Given the description of an element on the screen output the (x, y) to click on. 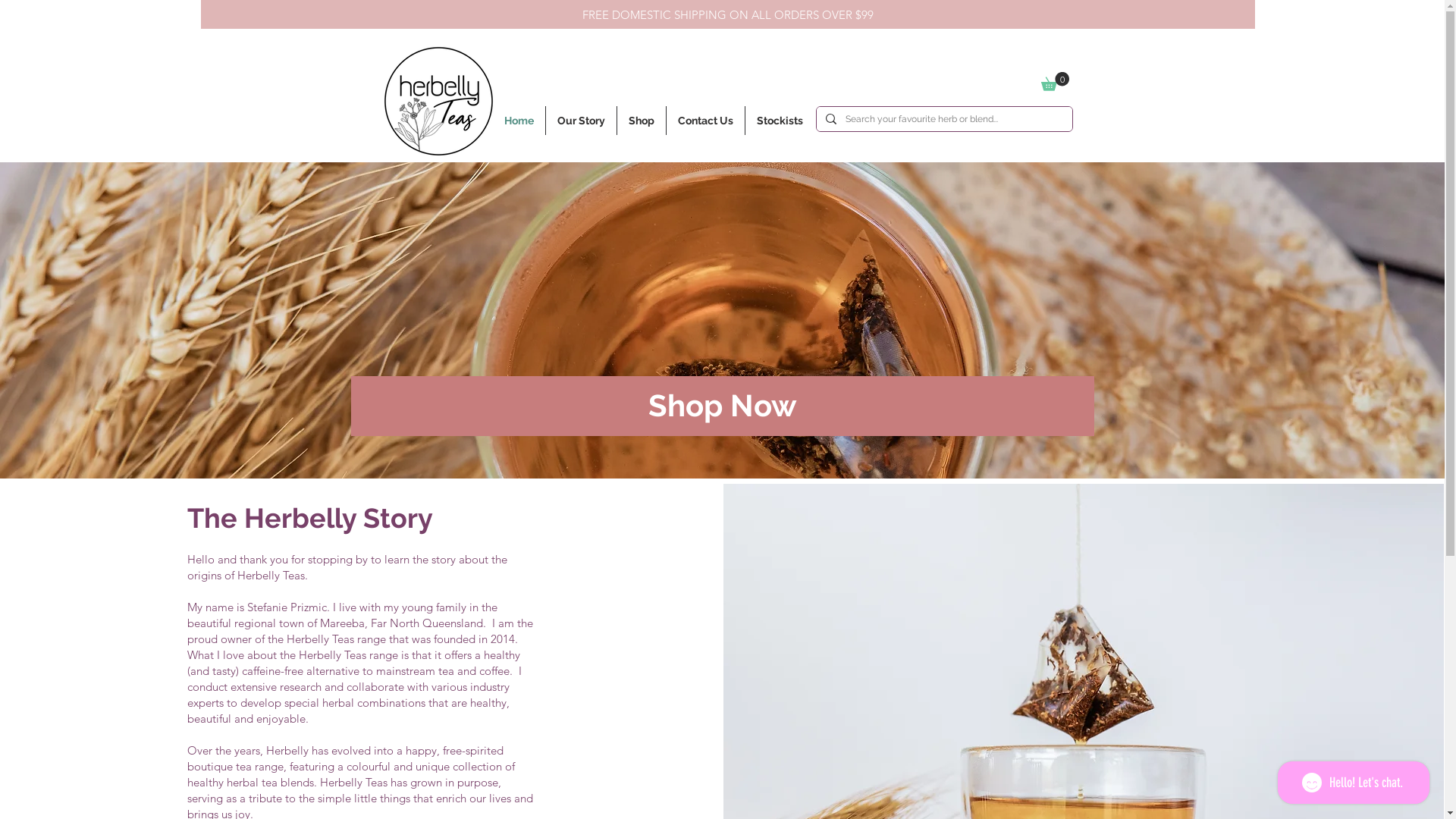
FREE DOMESTIC SHIPPING ON ALL ORDERS OVER $99 Element type: text (727, 14)
Our Story Element type: text (581, 120)
Shop Now Element type: text (721, 406)
Stockists Element type: text (778, 120)
0 Element type: text (1054, 81)
Contact Us Element type: text (704, 120)
Home Element type: text (518, 120)
